Given the description of an element on the screen output the (x, y) to click on. 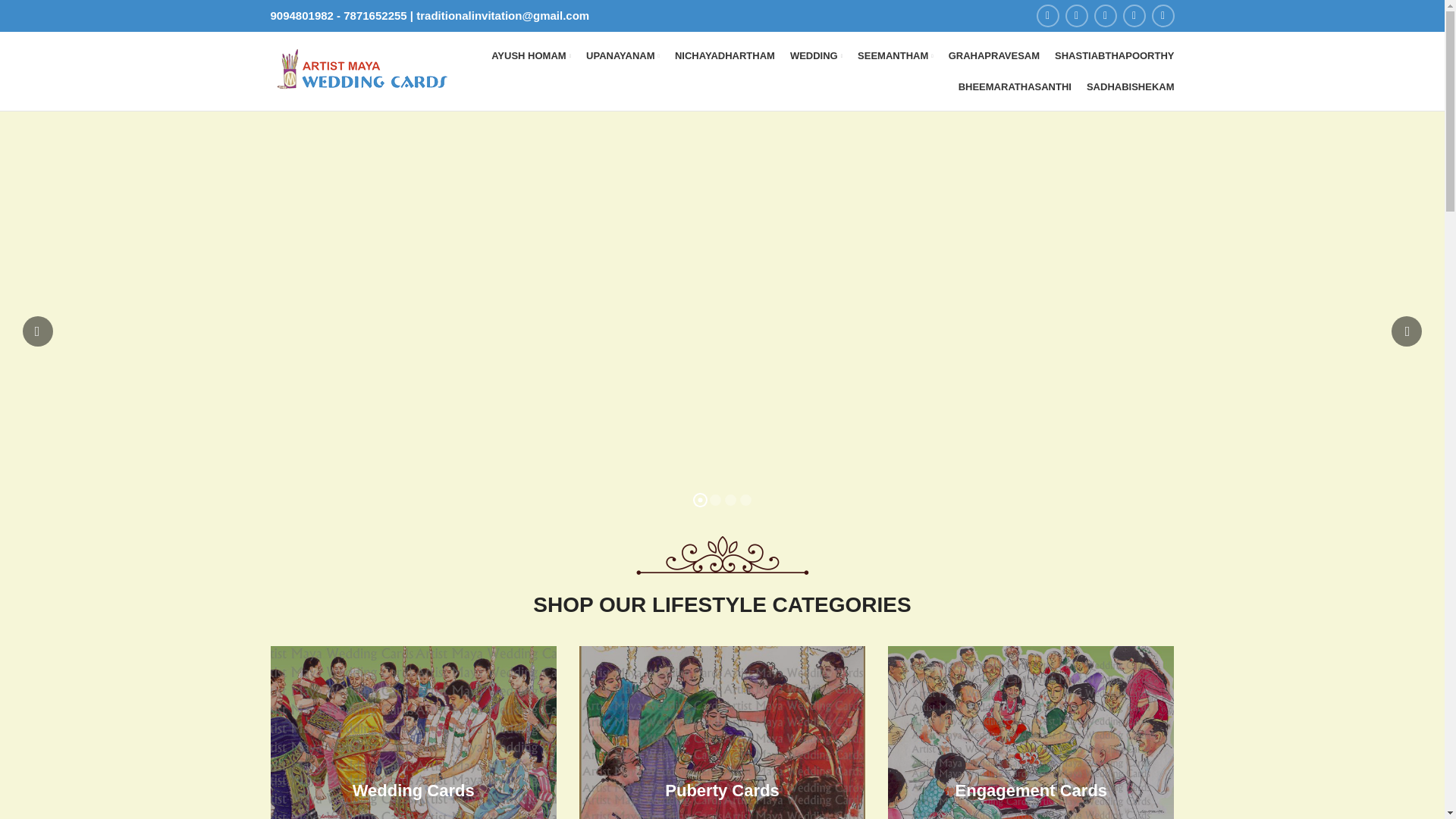
UPANAYANAM (622, 55)
WEDDING (816, 55)
NICHAYADHARTHAM (724, 55)
AYUSH HOMAM (531, 55)
